Given the description of an element on the screen output the (x, y) to click on. 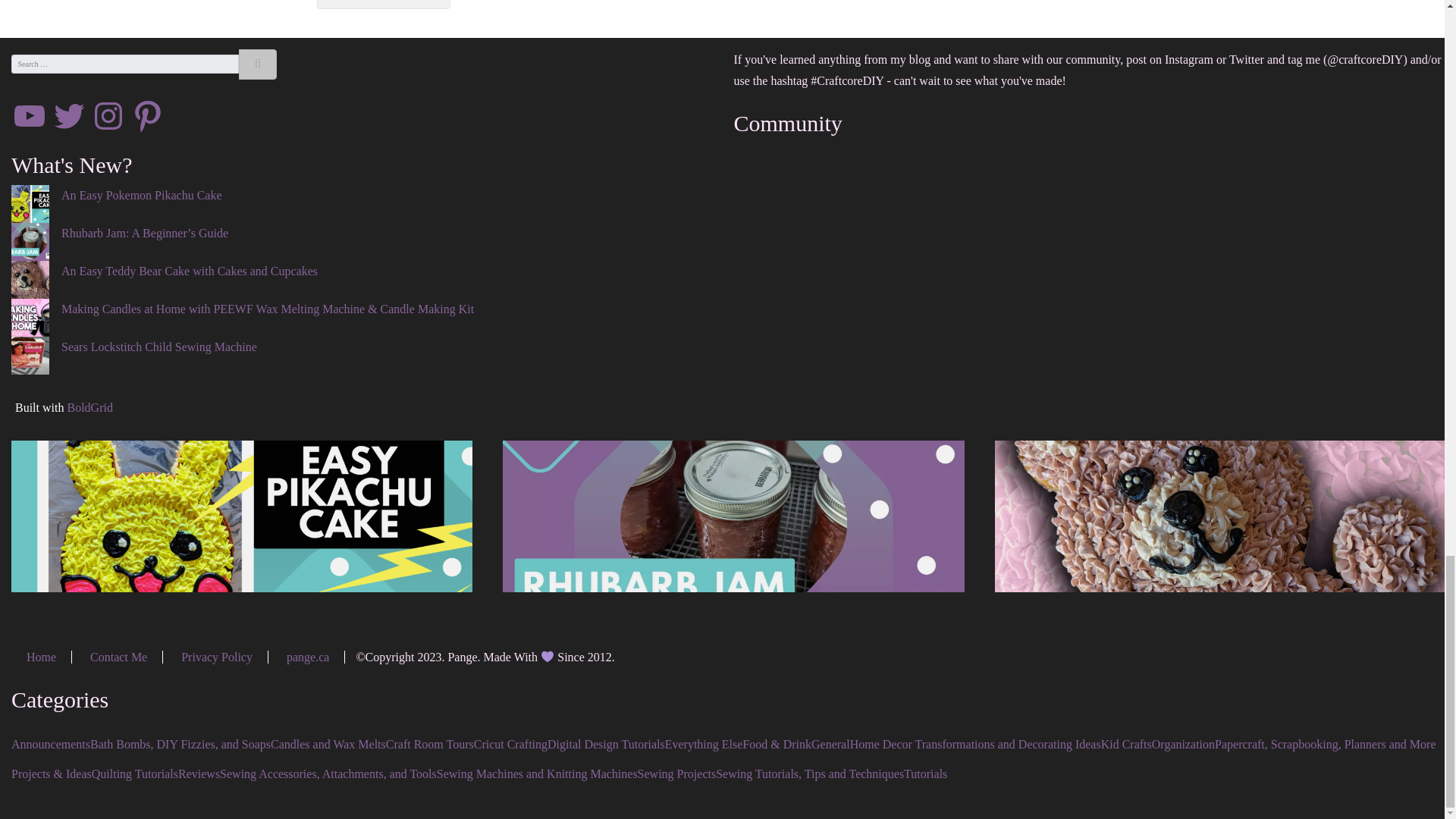
Post Comment (384, 4)
Post Comment (384, 4)
